Given the description of an element on the screen output the (x, y) to click on. 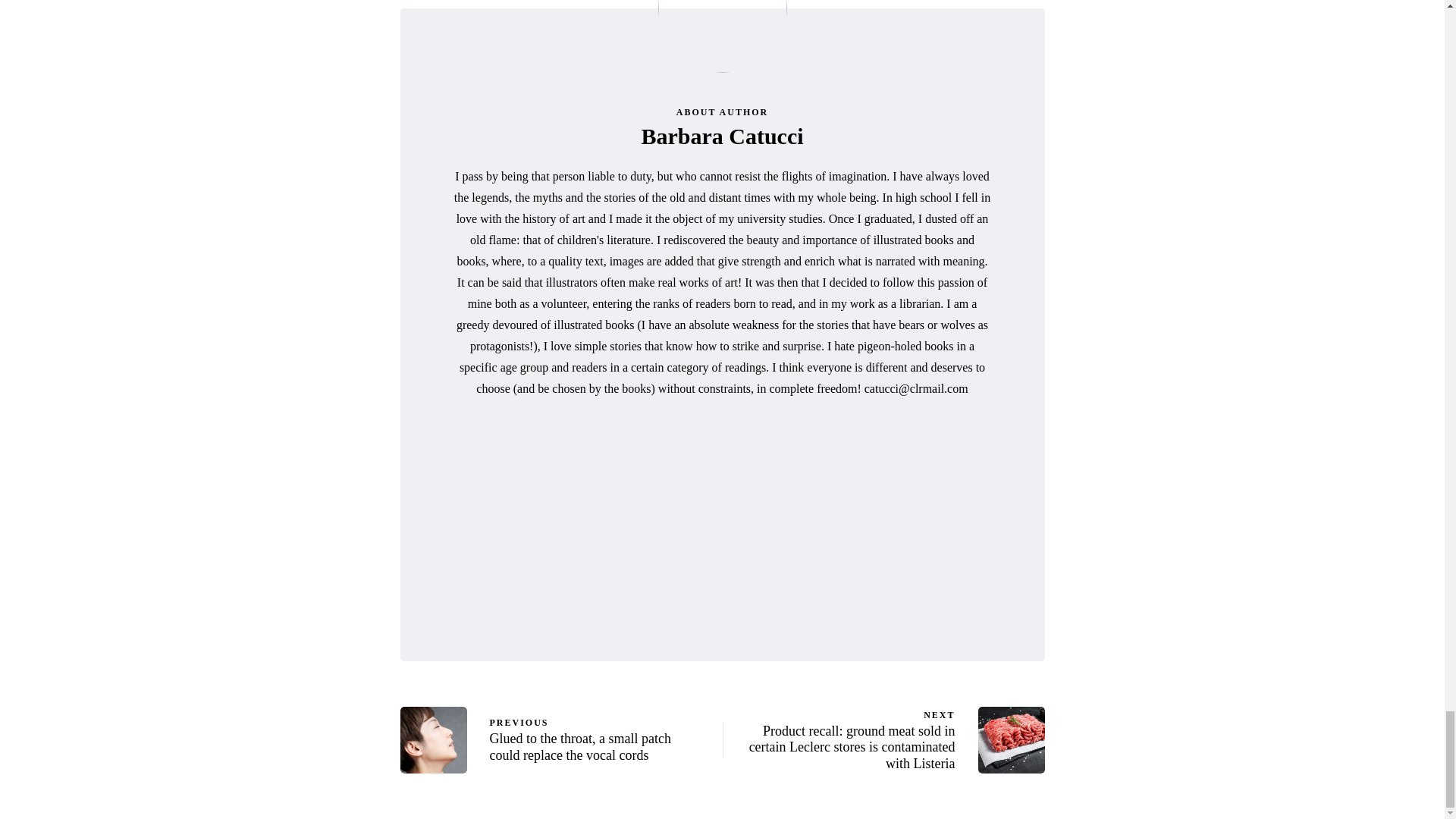
Posts by Barbara Catucci (721, 135)
Barbara Catucci (721, 135)
